Given the description of an element on the screen output the (x, y) to click on. 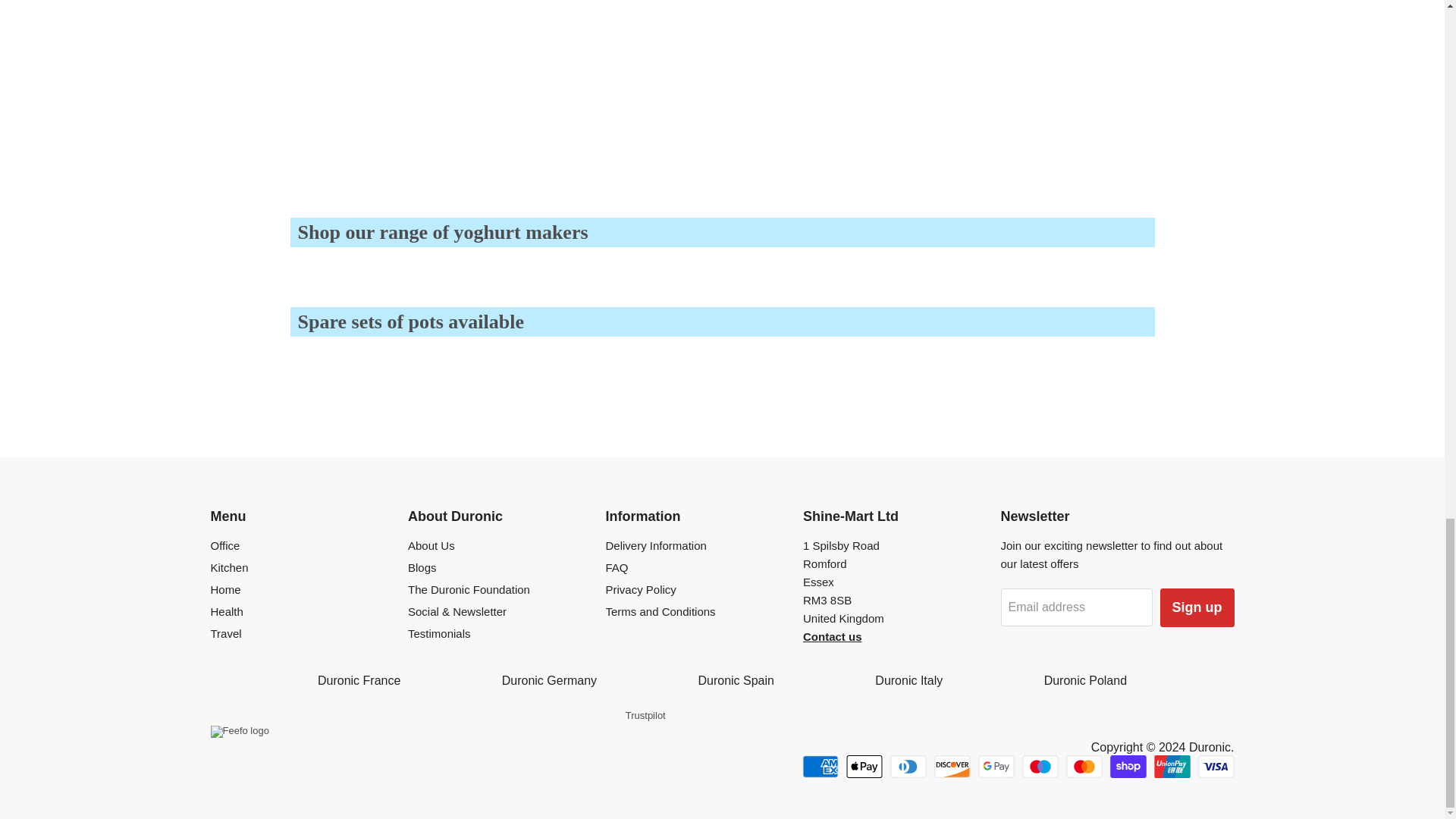
Contact form (832, 635)
Union Pay (1172, 766)
yt-video (869, 80)
Discover (952, 766)
Visa (1216, 766)
Our customer Feefo rating (240, 731)
Mastercard (1083, 766)
Maestro (1040, 766)
Google Pay (996, 766)
Apple Pay (863, 766)
